Given the description of an element on the screen output the (x, y) to click on. 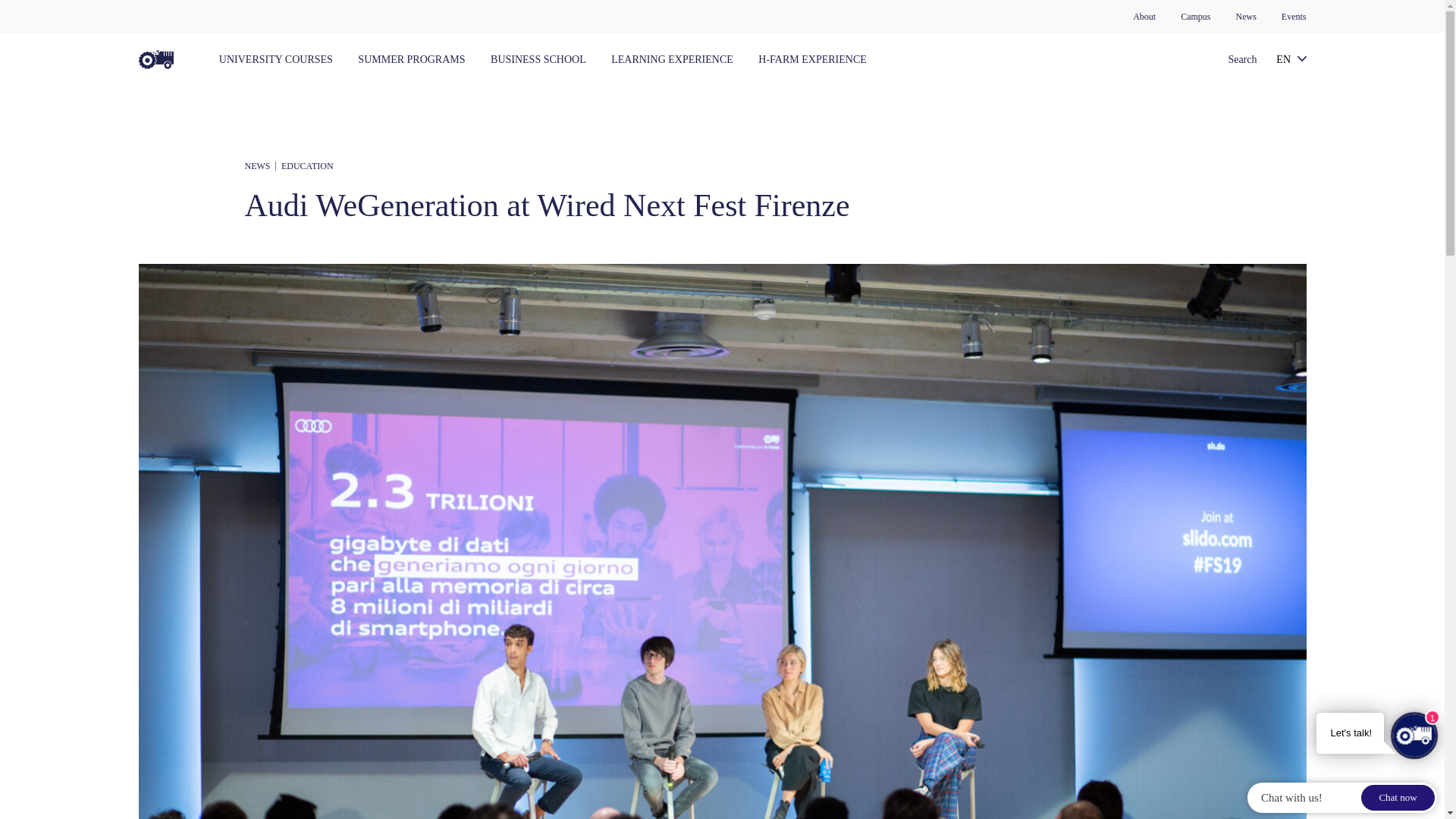
Events (1293, 16)
Campus (1194, 16)
About (1144, 16)
SUMMER PROGRAMS (411, 58)
UNIVERSITY COURSES (276, 58)
News (1246, 16)
